Given the description of an element on the screen output the (x, y) to click on. 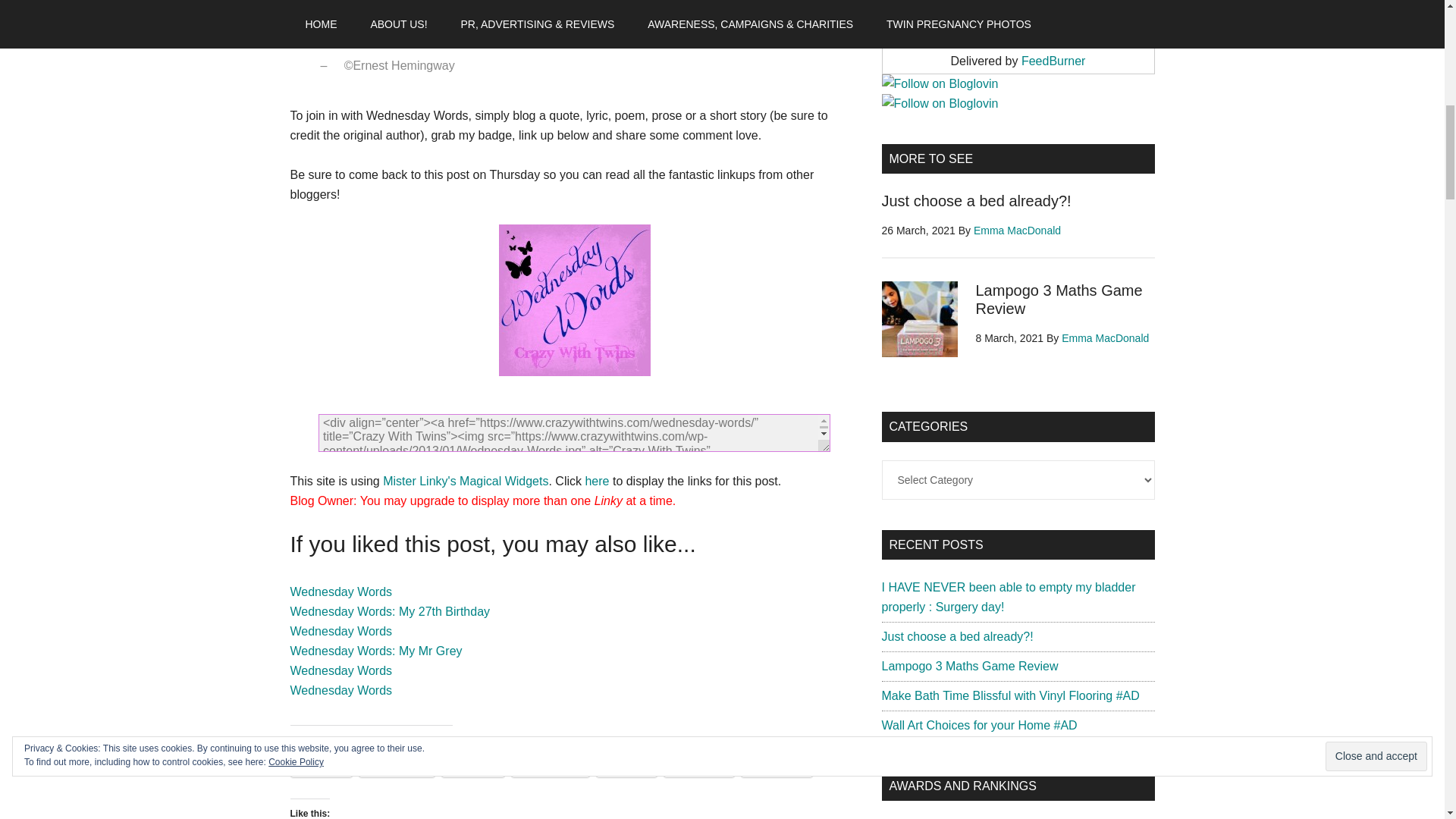
Mister Linky's Magical Widgets (465, 481)
Twitter (320, 765)
Click to share on Twitter (320, 765)
Wednesday Words: My 27th Birthday (389, 611)
Wednesday Words (340, 670)
Wednesday Words: My Mr Grey (375, 650)
Wednesday Words (340, 689)
Pinterest (776, 765)
Follow Crazy With Twins on Bloglovin (938, 103)
Click to share on WhatsApp (550, 765)
